Given the description of an element on the screen output the (x, y) to click on. 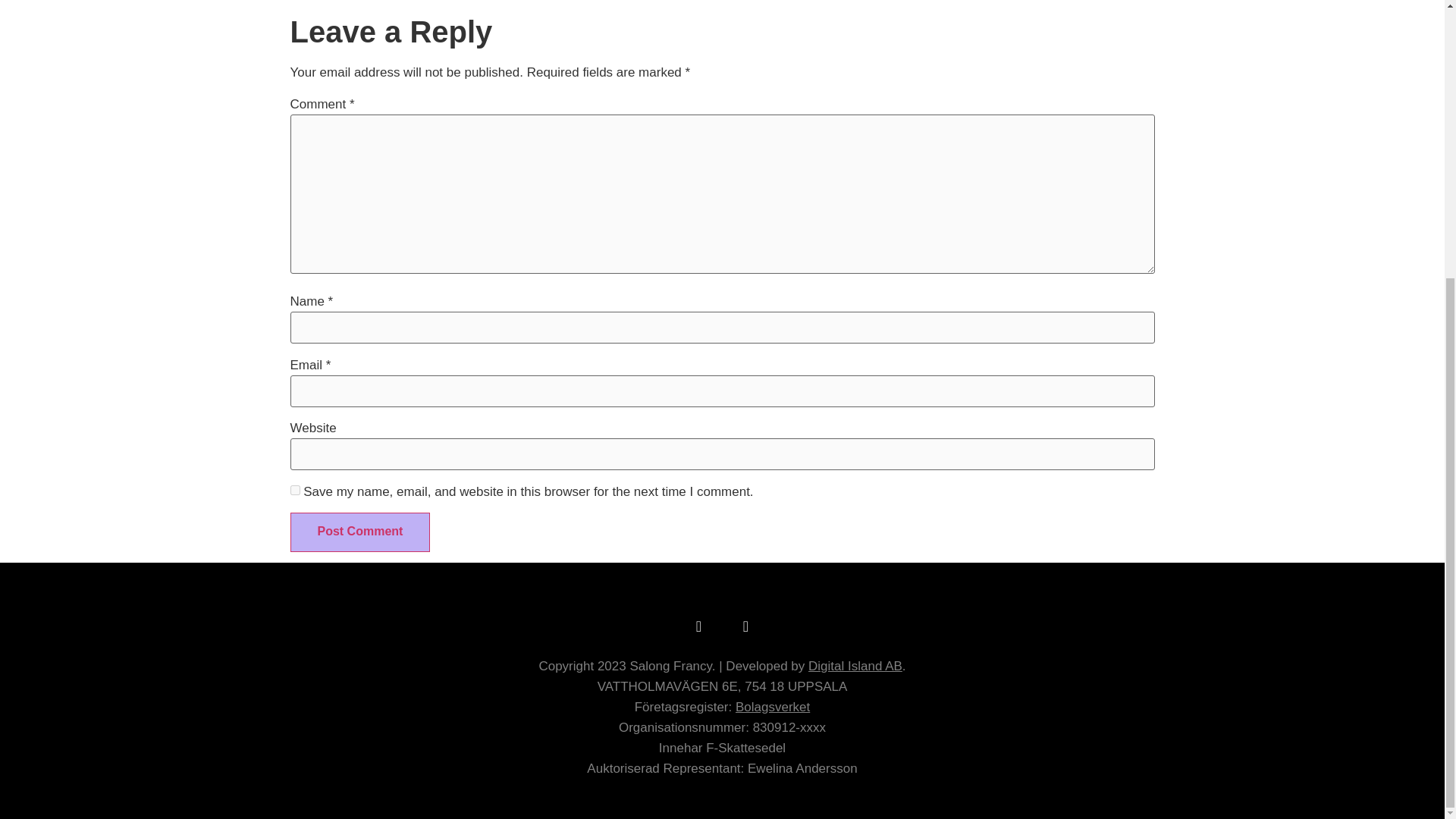
yes (294, 490)
Post Comment (359, 532)
Post Comment (359, 532)
Bolagsverket (772, 707)
Digital Island AB (855, 666)
